Given the description of an element on the screen output the (x, y) to click on. 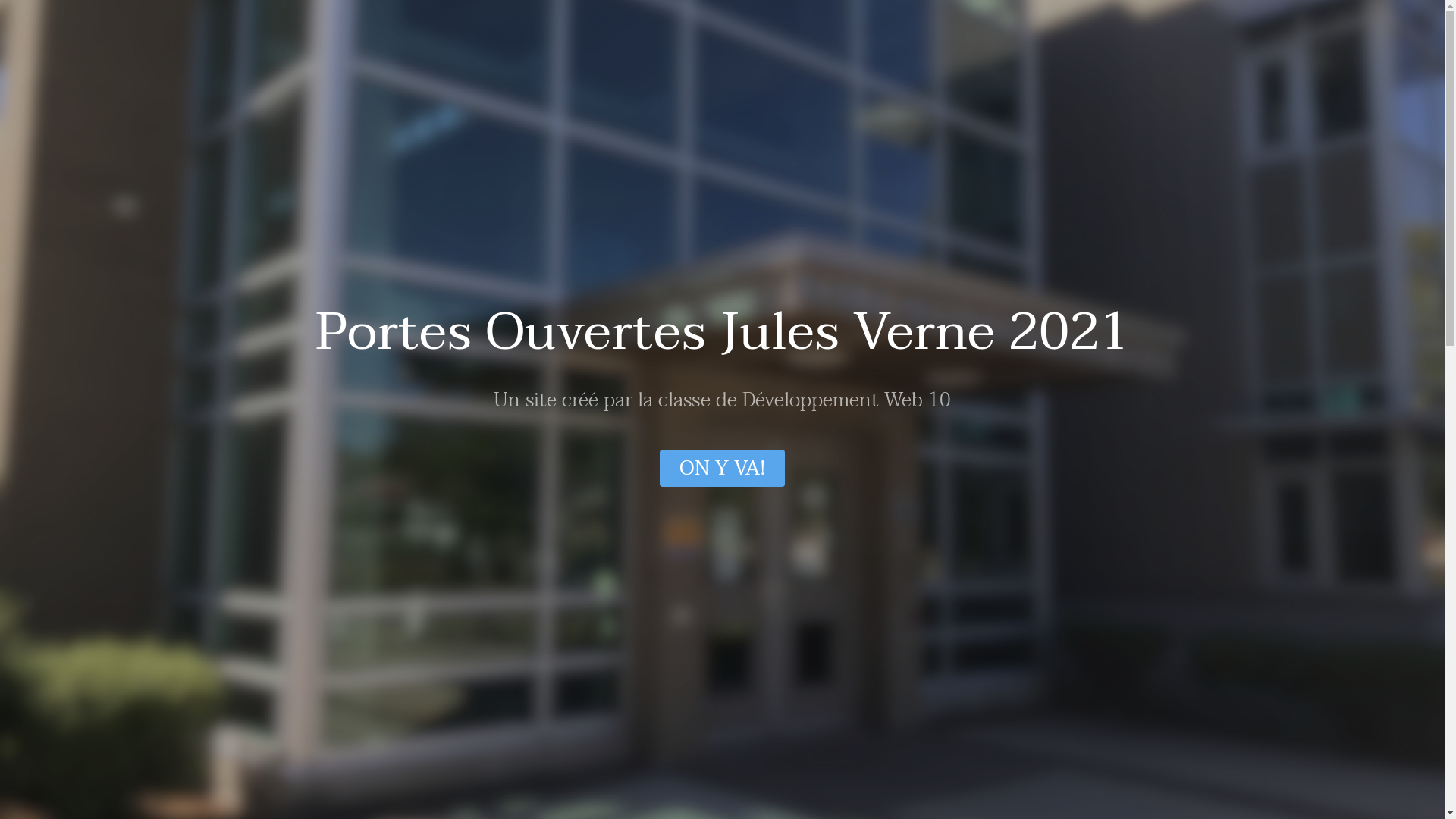
ON Y VA! Element type: text (721, 467)
